Given the description of an element on the screen output the (x, y) to click on. 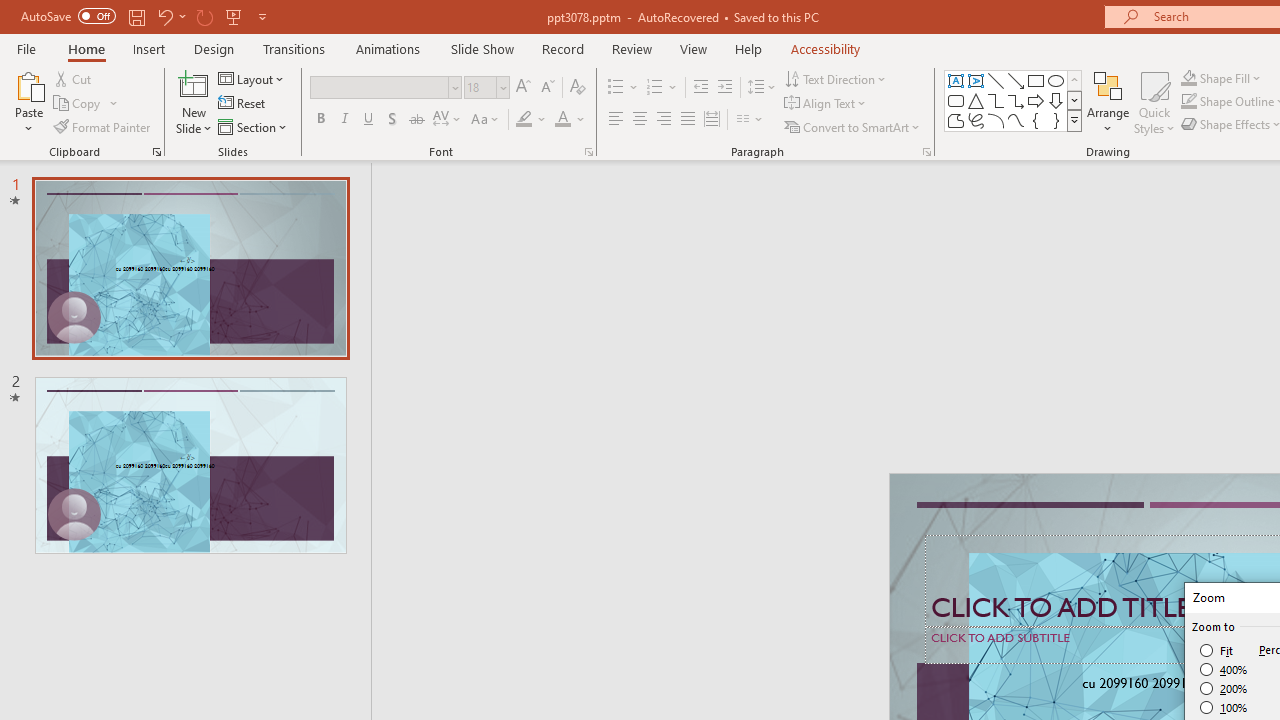
Section (254, 126)
Clear Formatting (577, 87)
Italic (344, 119)
Office Clipboard... (156, 151)
